Given the description of an element on the screen output the (x, y) to click on. 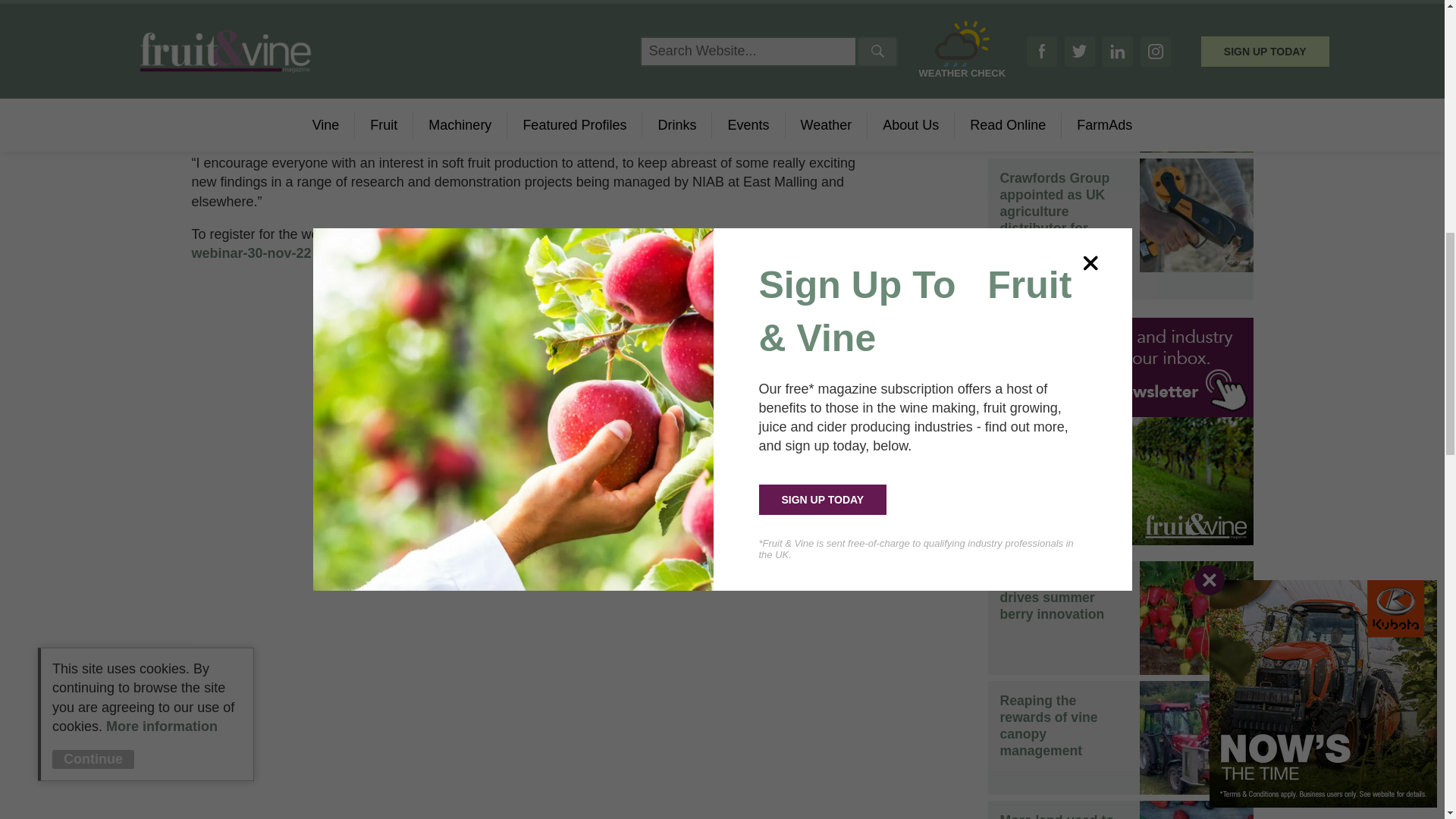
Sustainability drives summer berry innovation (1050, 597)
